Given the description of an element on the screen output the (x, y) to click on. 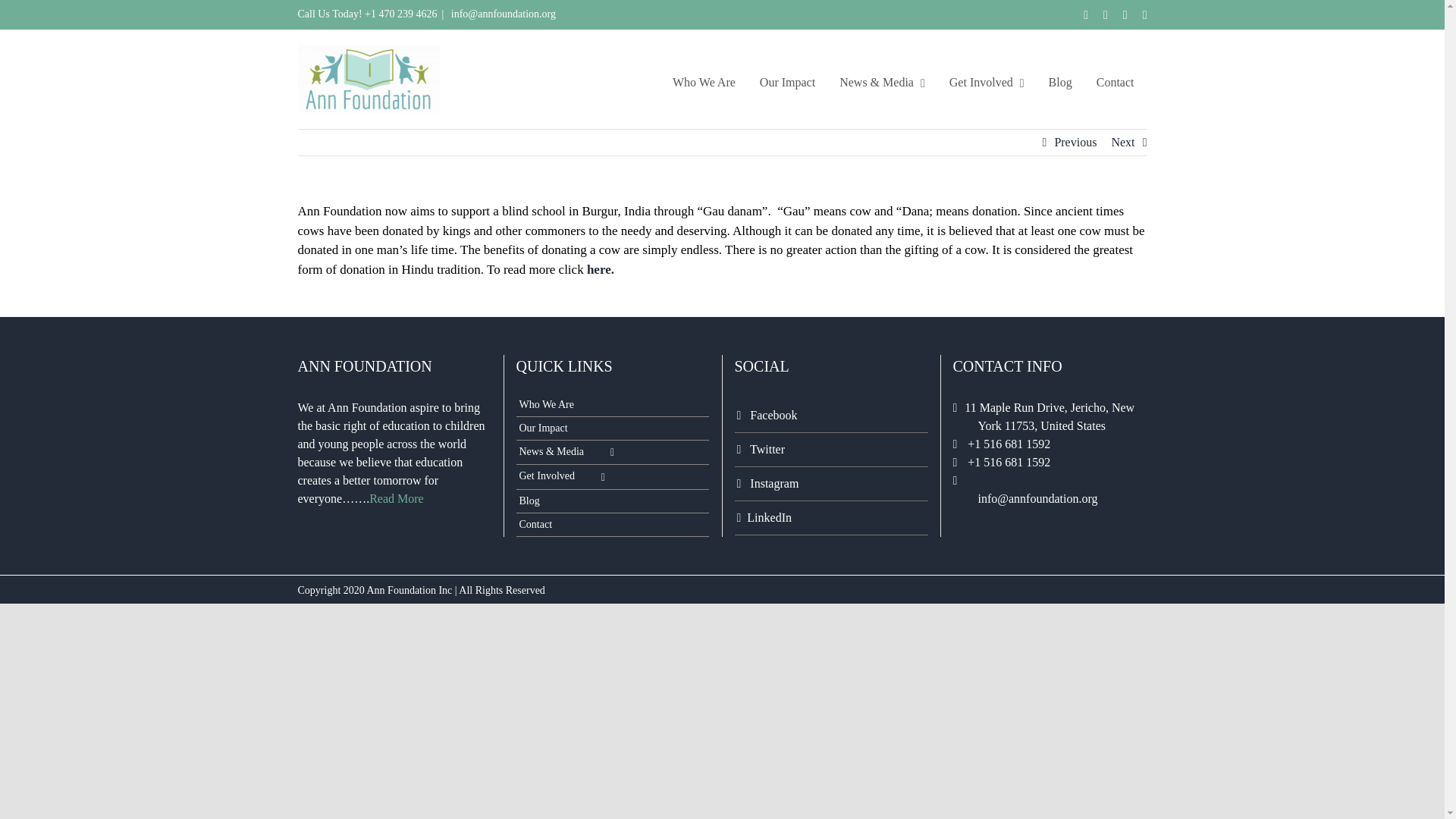
Next (1122, 142)
Who We Are (703, 82)
Blog (1059, 82)
Get Involved (986, 82)
here. (600, 269)
Previous (1075, 142)
Our Impact (787, 82)
Contact (1114, 82)
